Given the description of an element on the screen output the (x, y) to click on. 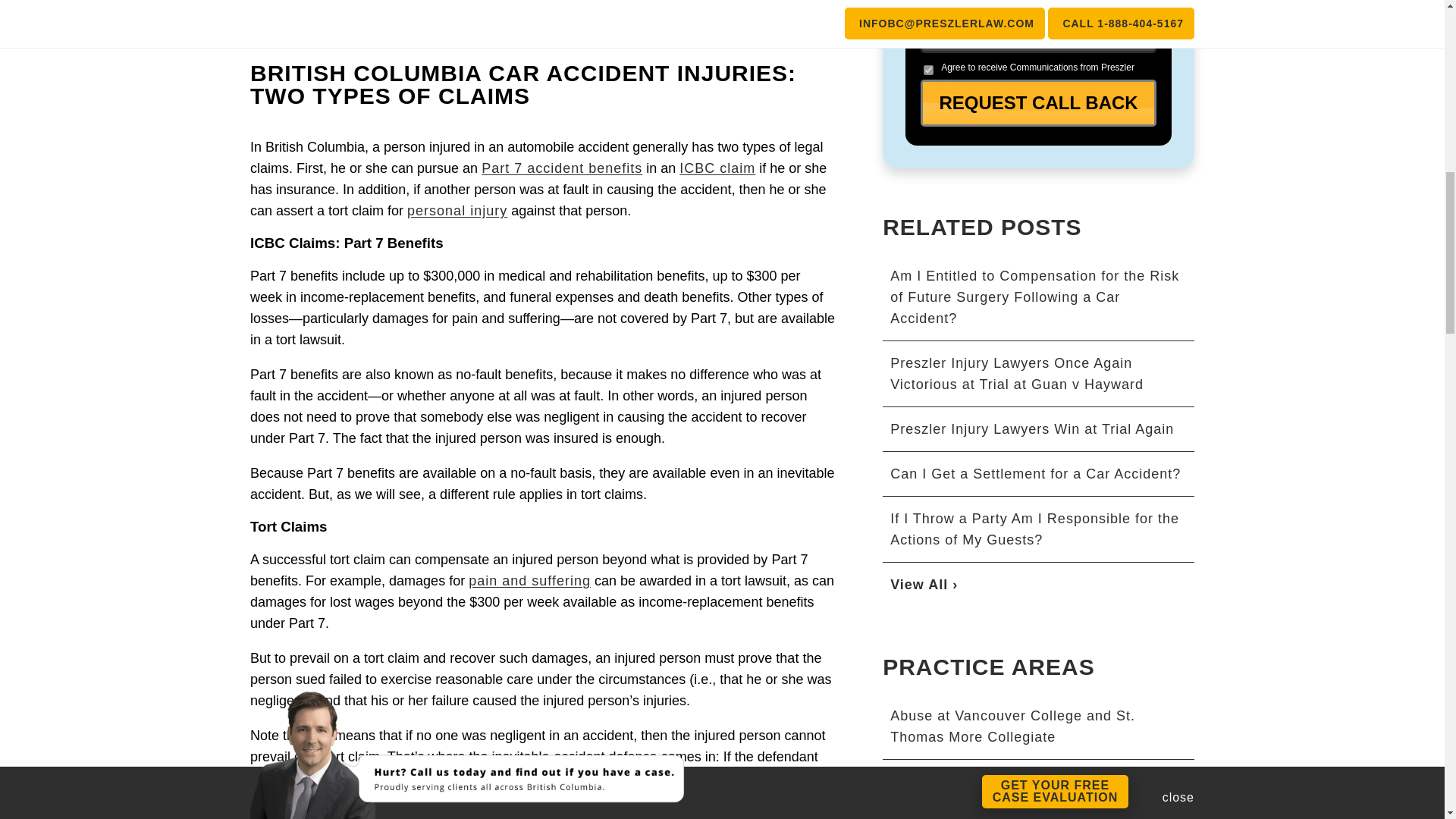
1 (928, 70)
